Given the description of an element on the screen output the (x, y) to click on. 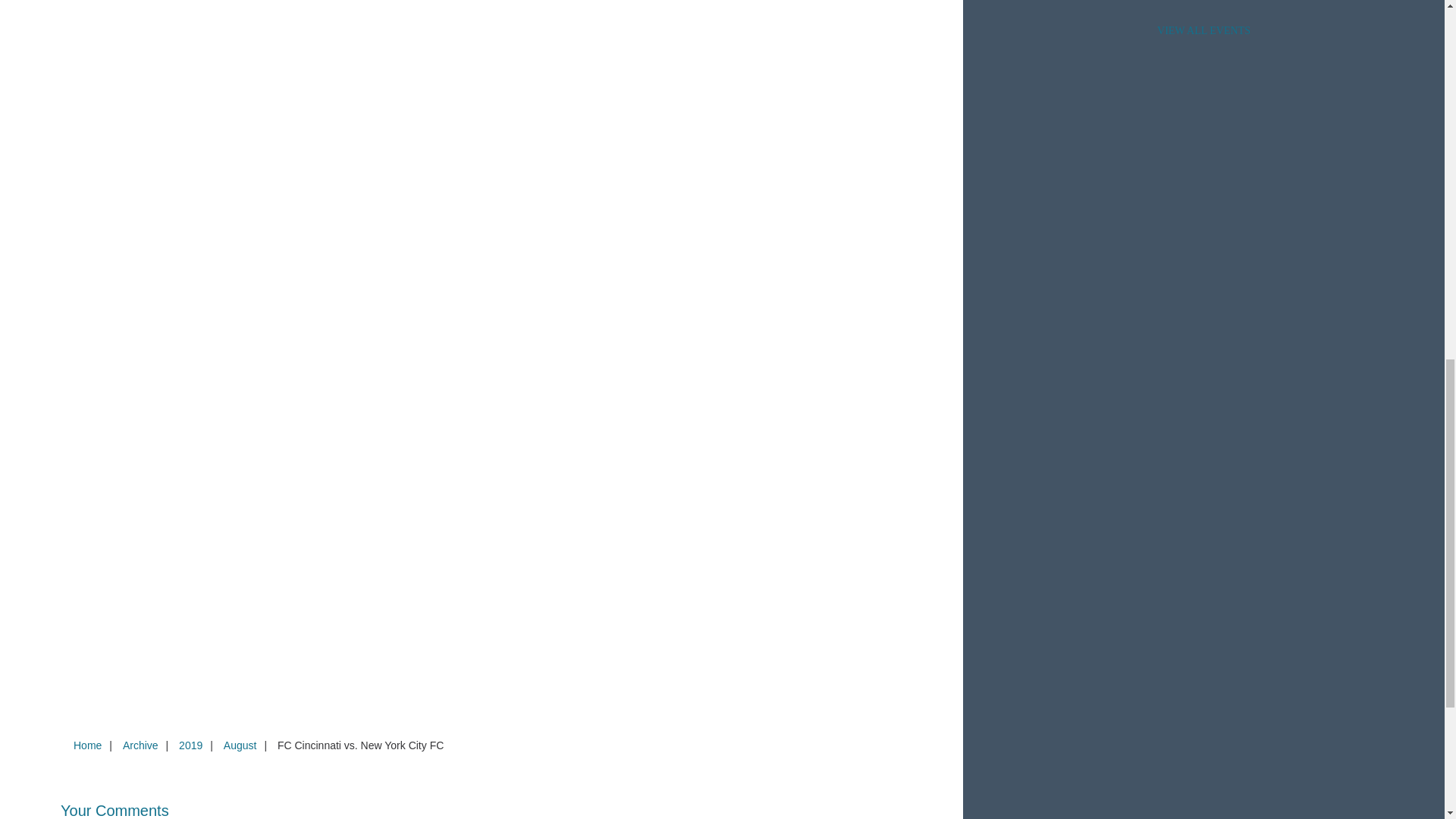
August (239, 745)
Archive (140, 745)
VIEW ALL EVENTS (1203, 30)
Home (87, 745)
2019 (190, 745)
